Given the description of an element on the screen output the (x, y) to click on. 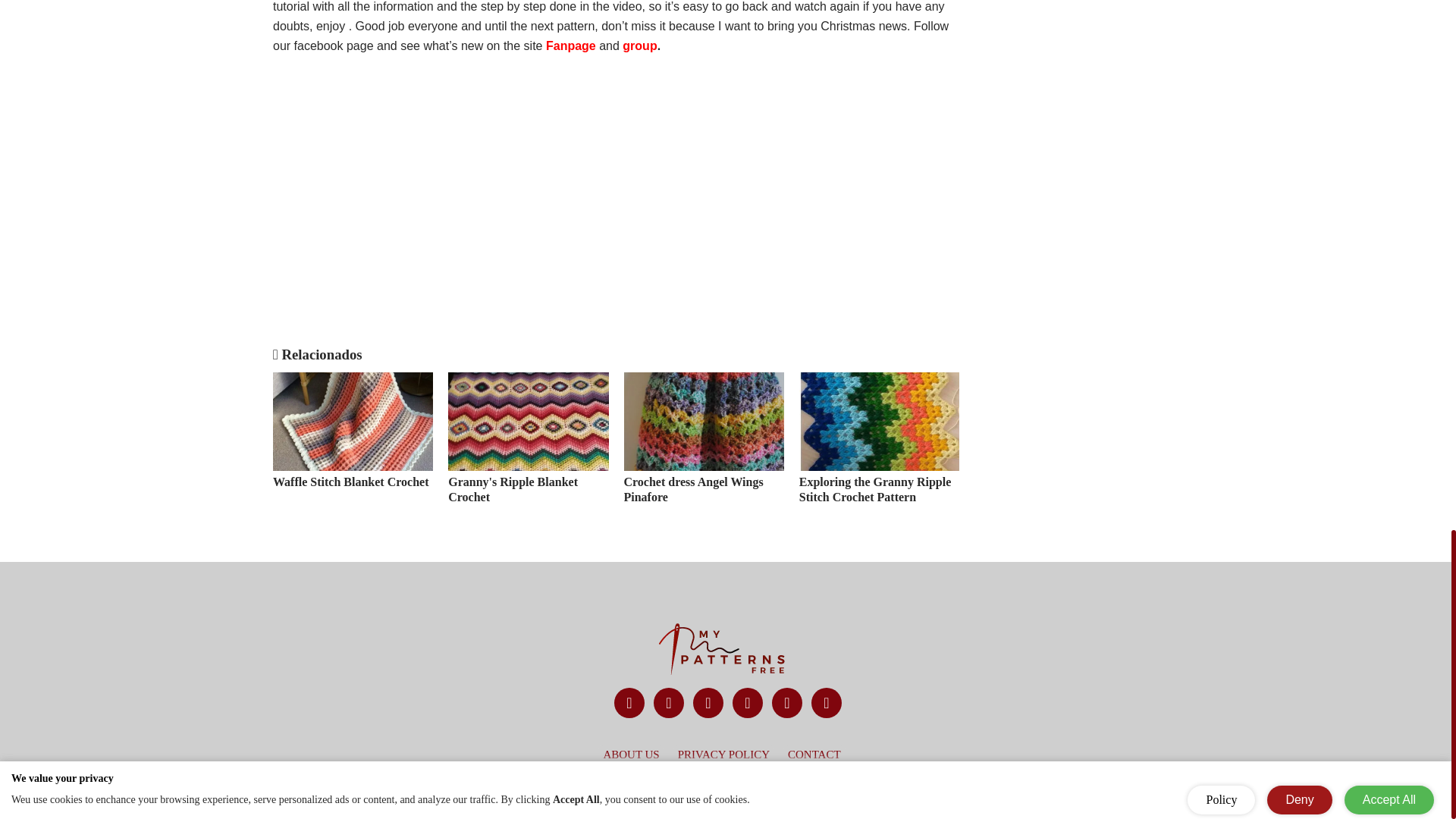
Fanpage  (572, 45)
Granny's Ripple Blanket Crochet (528, 448)
Exploring the Granny Ripple Stitch Crochet Pattern (879, 448)
Exploring the Granny Ripple Stitch Crochet Pattern (879, 448)
Crochet dress Angel Wings Pinafore (703, 448)
group (639, 45)
Waffle Stitch Blanket Crochet (352, 448)
Crochet dress Angel Wings Pinafore (703, 448)
Granny's Ripple Blanket Crochet (528, 448)
Waffle Stitch Blanket Crochet (352, 448)
